Given the description of an element on the screen output the (x, y) to click on. 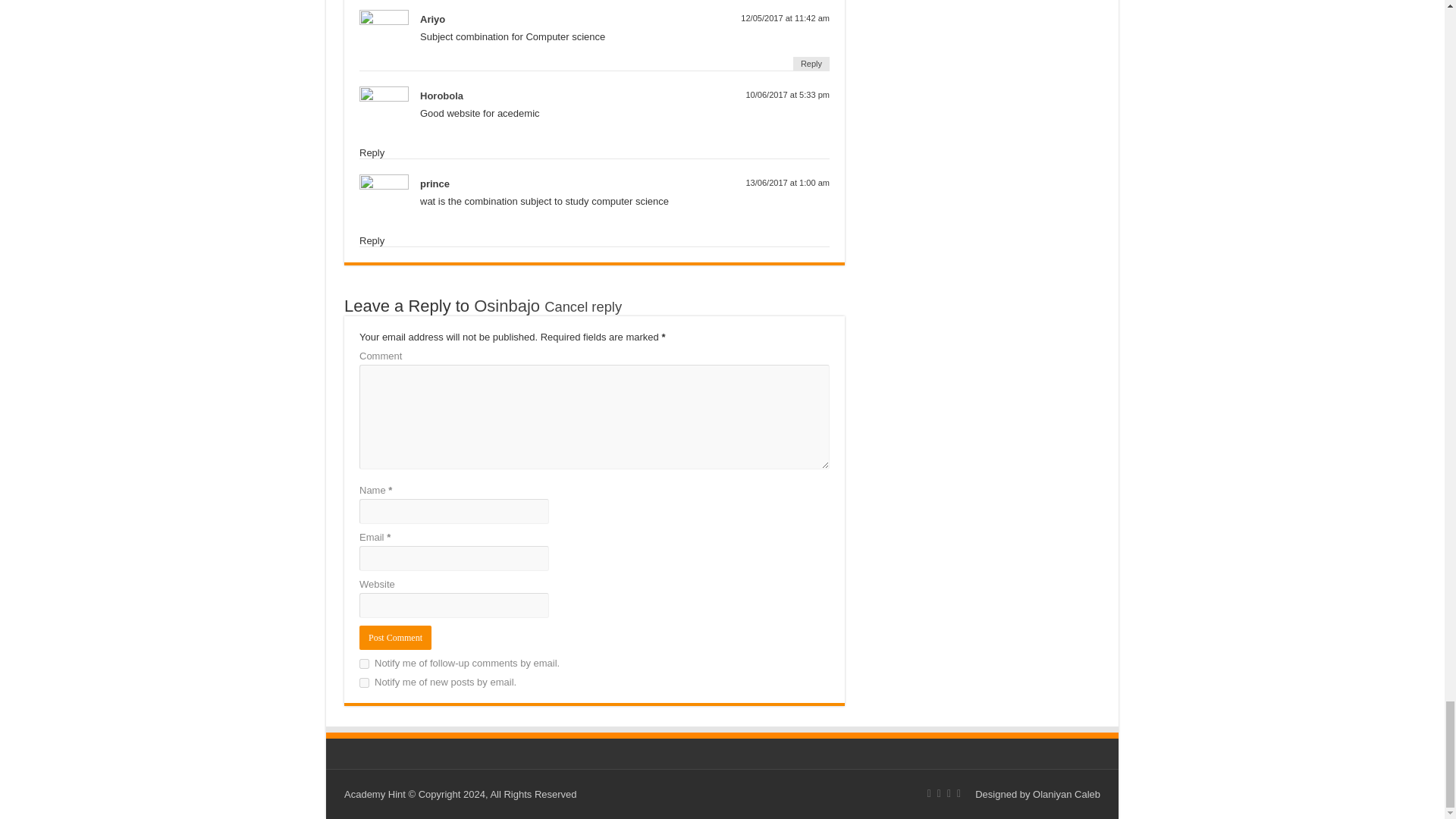
subscribe (364, 682)
Post Comment (394, 637)
subscribe (364, 664)
